Given the description of an element on the screen output the (x, y) to click on. 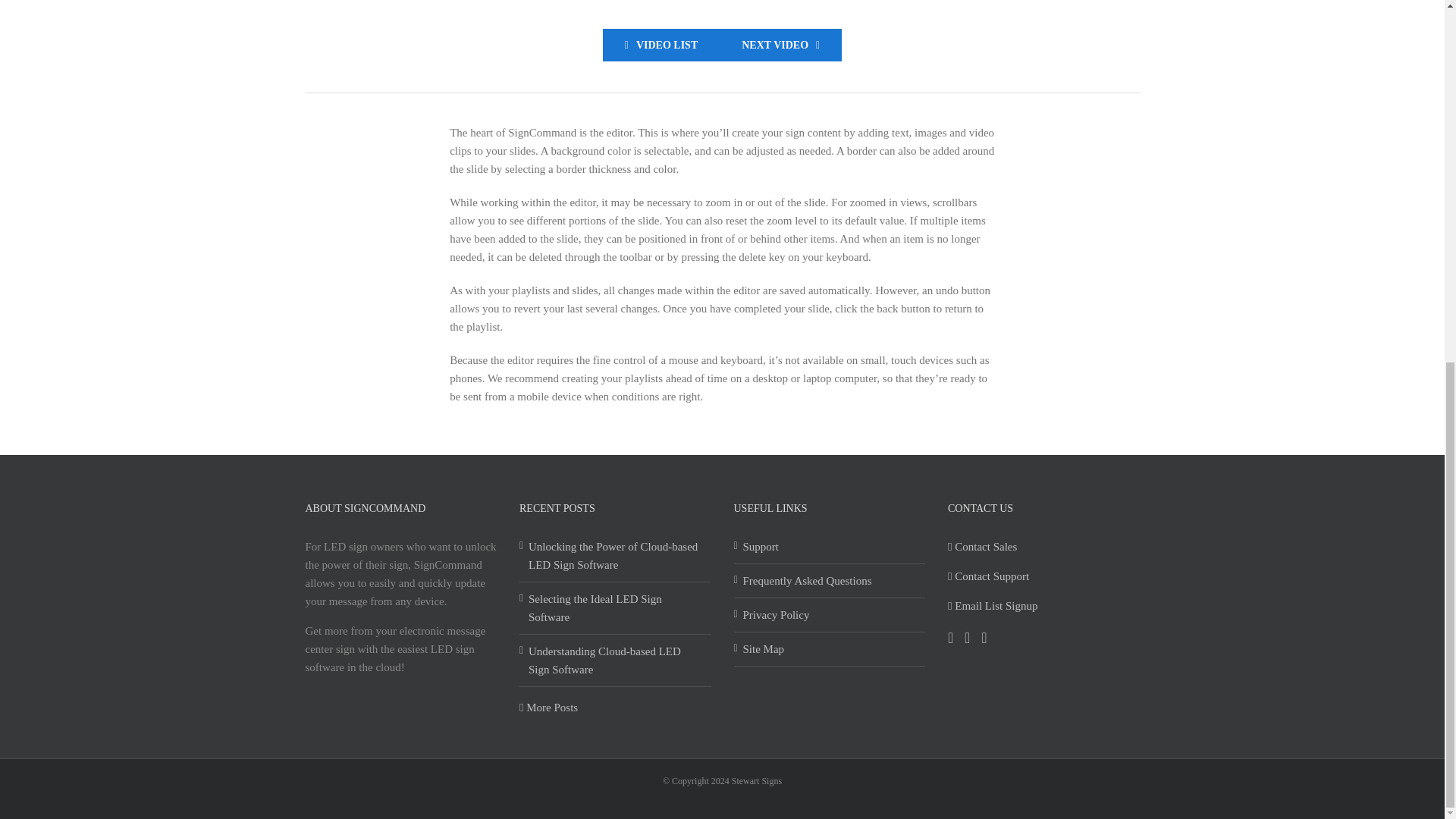
More Posts (548, 707)
Support (830, 546)
Unlocking the Power of Cloud-based LED Sign Software (615, 555)
Email List Signup (991, 605)
Frequently Asked Questions (830, 580)
Contact Support (988, 576)
Contact Sales (981, 546)
Selecting the Ideal LED Sign Software (615, 607)
NEXT VIDEO (780, 44)
Understanding Cloud-based LED Sign Software (615, 660)
